Given the description of an element on the screen output the (x, y) to click on. 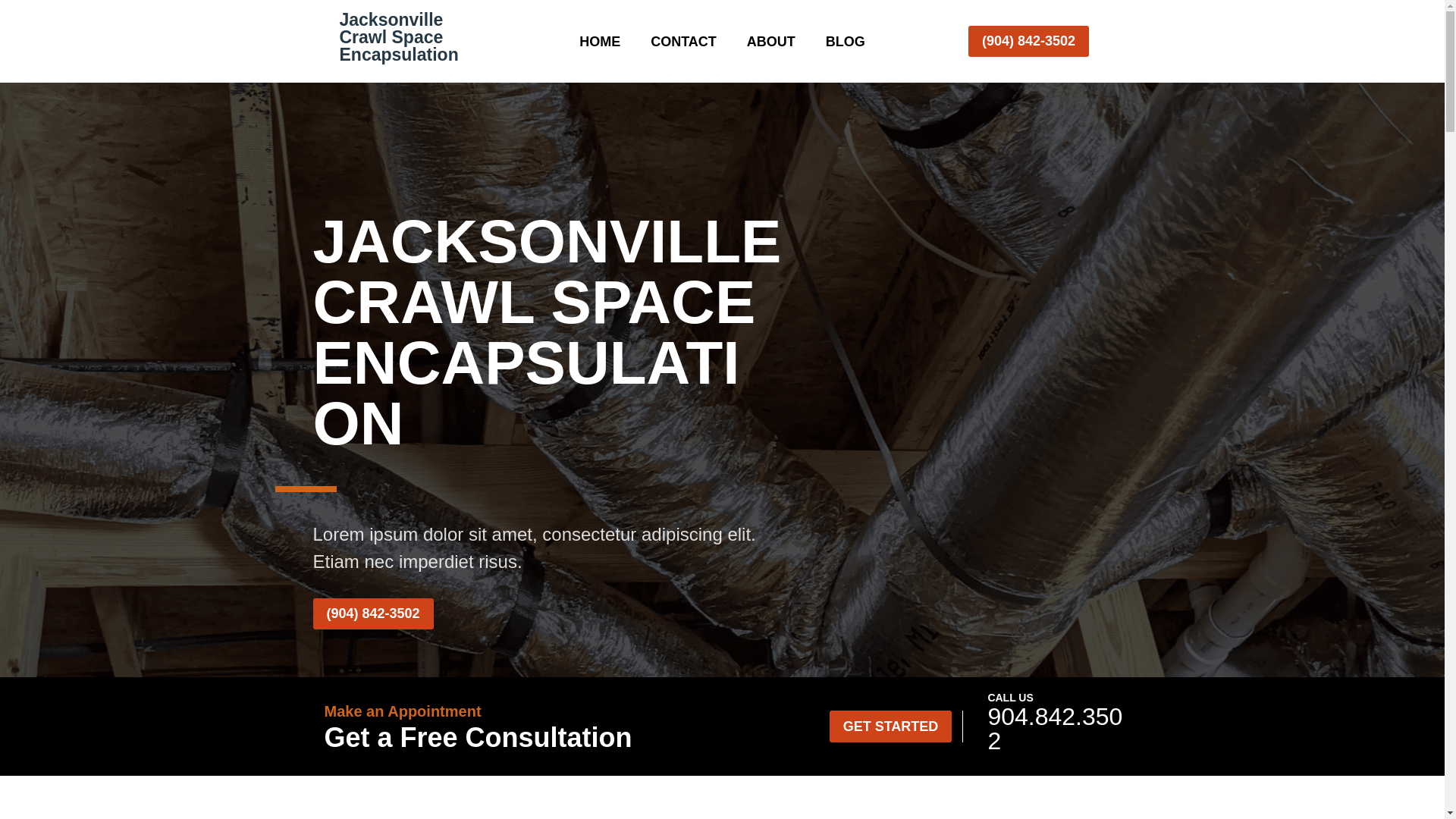
BLOG (844, 44)
ABOUT (770, 44)
GET STARTED (890, 726)
Jacksonville Crawl Space Encapsulation (398, 36)
CONTACT (683, 44)
HOME (599, 44)
